Given the description of an element on the screen output the (x, y) to click on. 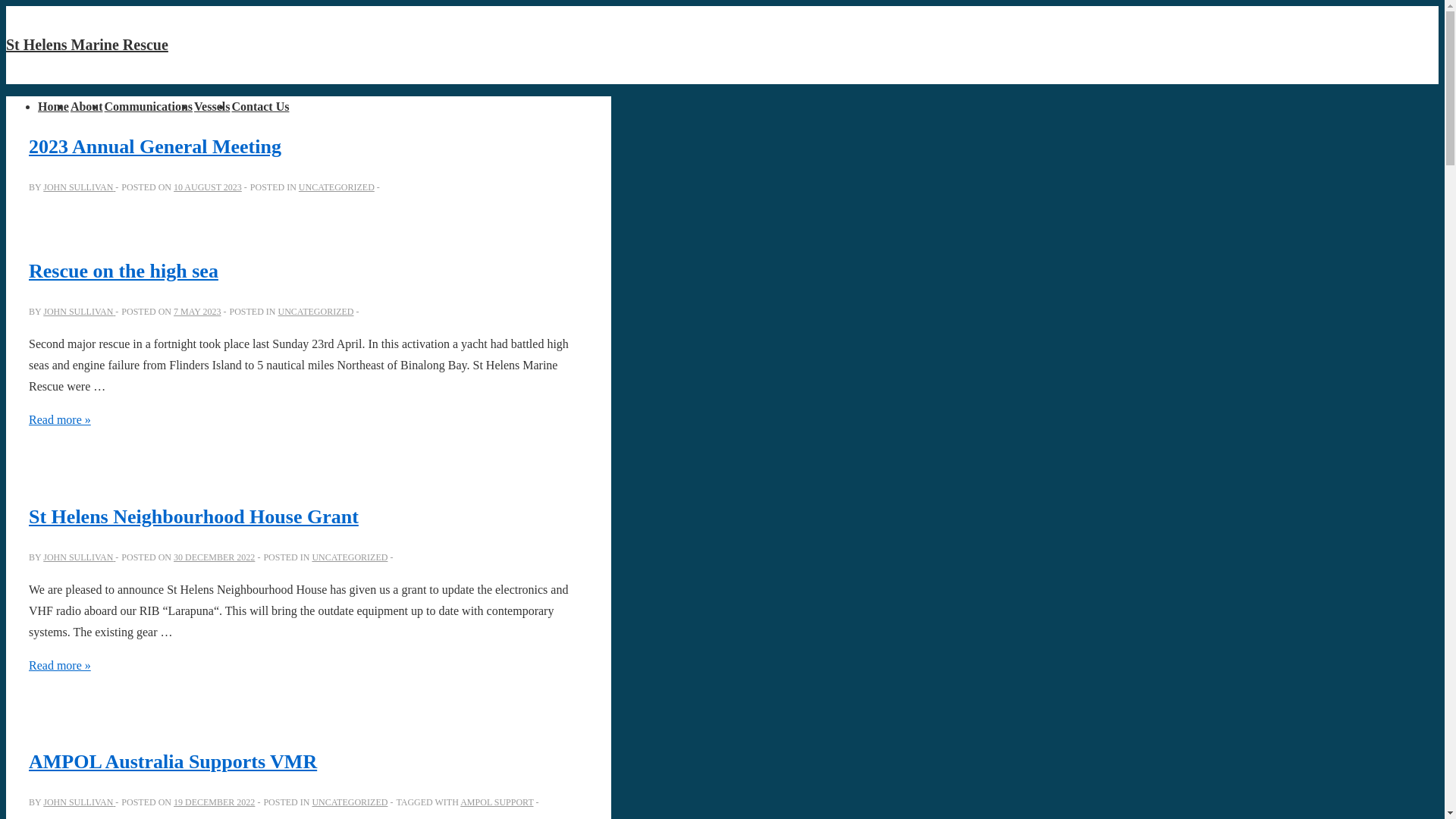
UNCATEGORIZED Element type: text (349, 802)
AMPOL SUPPORT Element type: text (496, 802)
AMPOL Australia Supports VMR Element type: text (172, 761)
St Helens Marine Rescue Element type: text (87, 44)
Vessels Element type: text (211, 106)
UNCATEGORIZED Element type: text (336, 187)
2023 Annual General Meeting Element type: text (154, 146)
10 AUGUST 2023 Element type: text (207, 187)
JOHN SULLIVAN Element type: text (79, 802)
JOHN SULLIVAN Element type: text (79, 311)
JOHN SULLIVAN Element type: text (79, 557)
7 MAY 2023 Element type: text (196, 311)
UNCATEGORIZED Element type: text (316, 311)
Contact Us Element type: text (259, 106)
JOHN SULLIVAN Element type: text (79, 187)
St Helens Neighbourhood House Grant Element type: text (193, 516)
19 DECEMBER 2022 Element type: text (213, 802)
Rescue on the high sea Element type: text (123, 271)
UNCATEGORIZED Element type: text (349, 557)
About Element type: text (86, 106)
30 DECEMBER 2022 Element type: text (213, 557)
Communications Element type: text (148, 106)
Home Element type: text (53, 106)
